Given the description of an element on the screen output the (x, y) to click on. 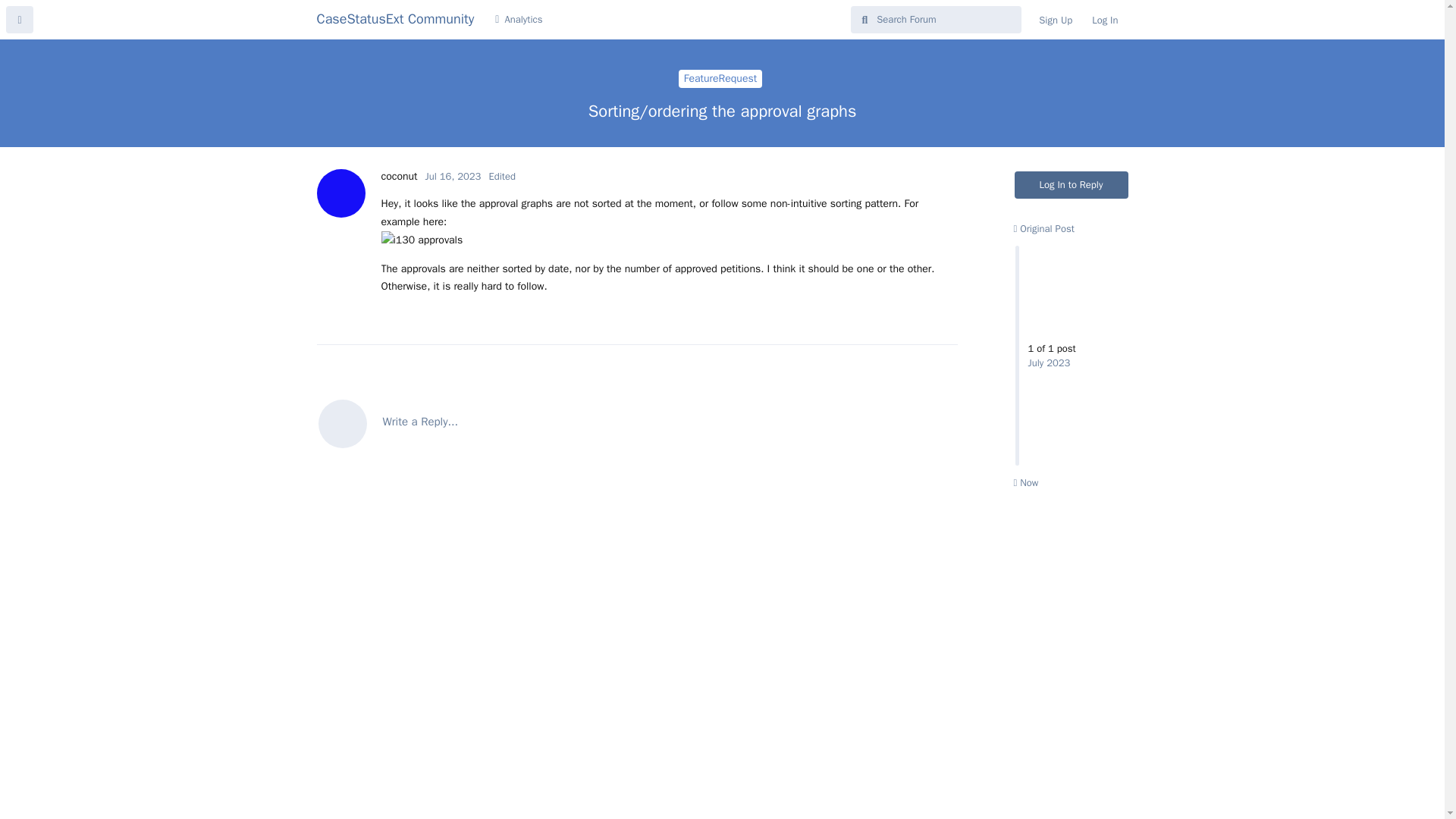
Sign Up (1055, 19)
Analytics (517, 19)
CaseStatusExt Community (395, 18)
Jul 16, 2023 (453, 175)
Log In (1103, 19)
Log In to Reply (1071, 355)
coconut (1071, 185)
Original Post (398, 175)
Now (1043, 228)
FeatureRequest (1025, 481)
Sunday, July 16, 2023 2:25 AM (719, 78)
